Given the description of an element on the screen output the (x, y) to click on. 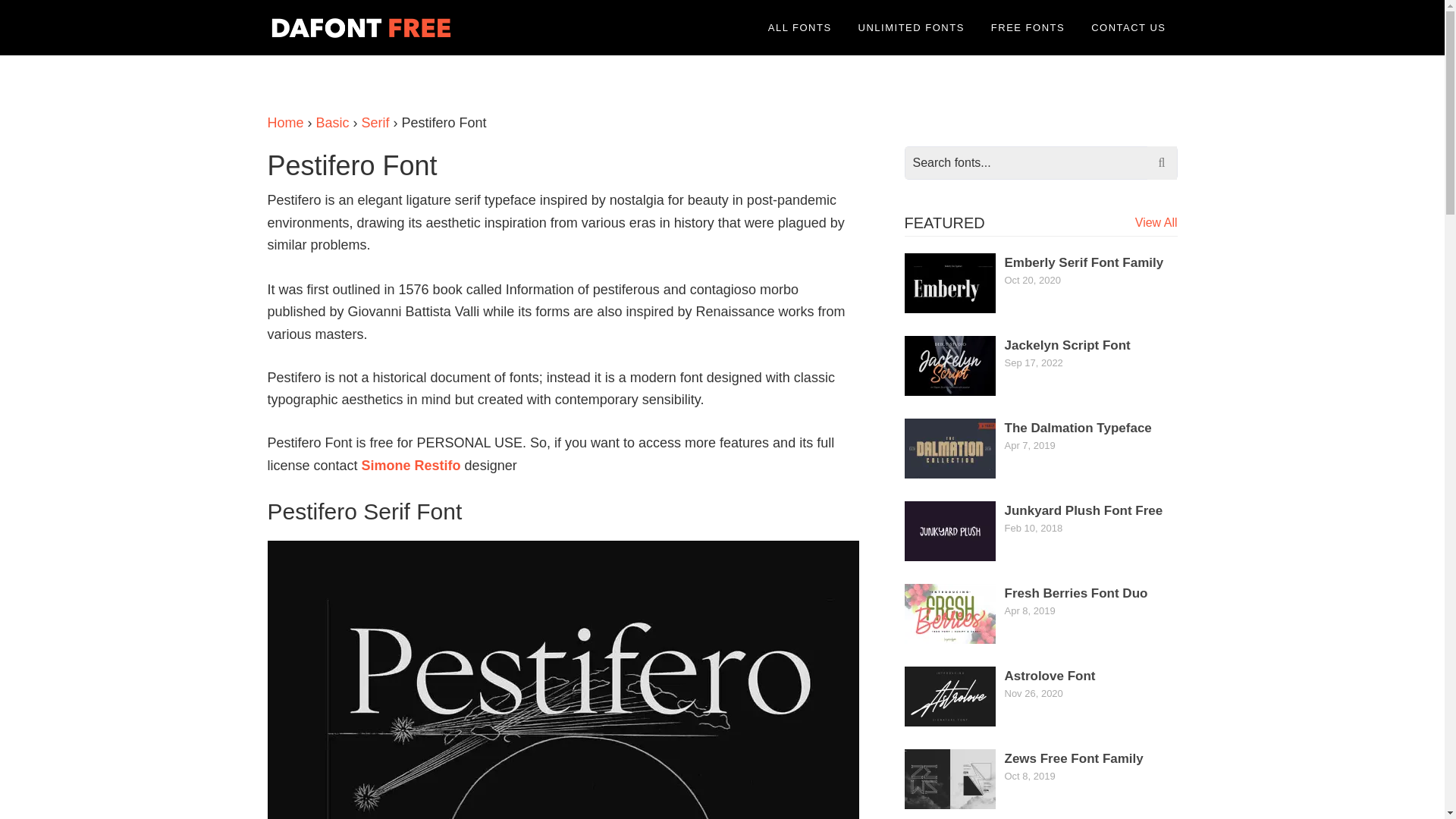
CONTACT US (1128, 27)
UNLIMITED FONTS (911, 27)
FREE FONTS (1027, 27)
Simone Restifo (411, 465)
Home (284, 122)
Basic (332, 122)
ALL FONTS (800, 27)
Serif (375, 122)
